Given the description of an element on the screen output the (x, y) to click on. 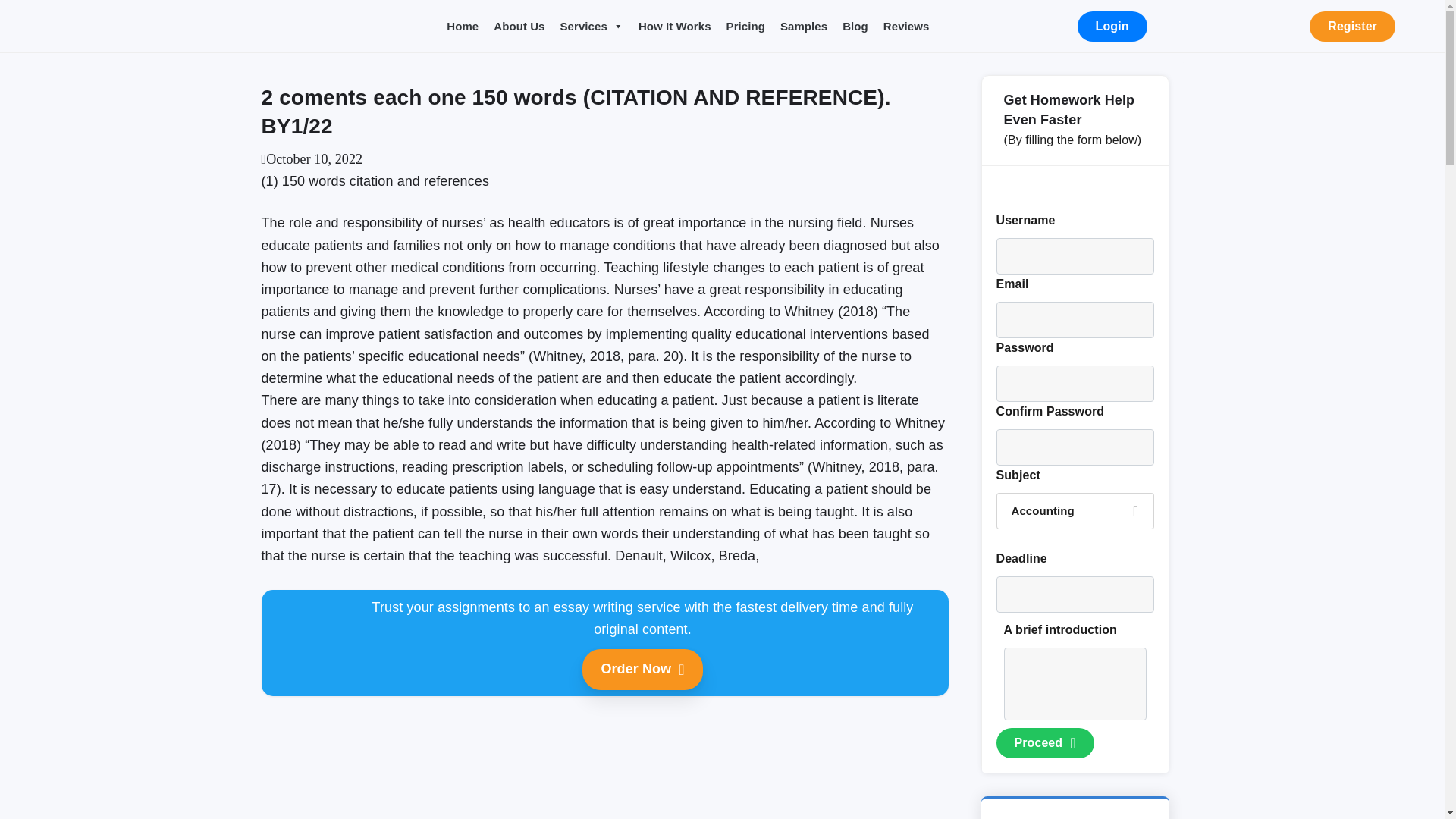
Home (462, 26)
Register (1351, 26)
Services (591, 26)
Blog (855, 26)
Samples (803, 26)
Reviews (906, 26)
Proceed (1044, 743)
Login (1112, 26)
Order Now (641, 669)
How It Works (674, 26)
